Given the description of an element on the screen output the (x, y) to click on. 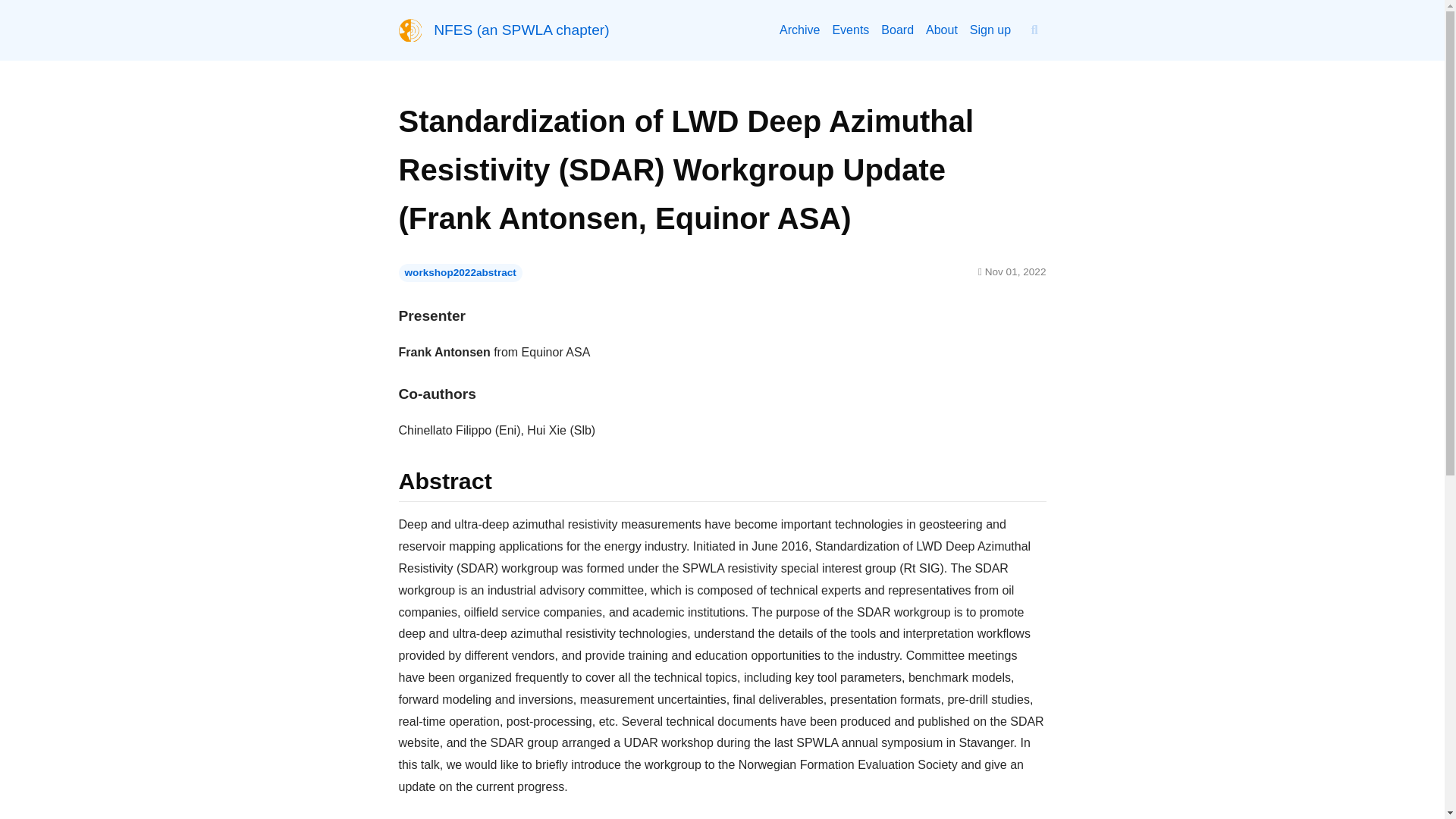
workshop2022abstract (460, 272)
Events (850, 29)
Board (520, 30)
Sign up (897, 29)
Archive (989, 29)
About (798, 29)
